Given the description of an element on the screen output the (x, y) to click on. 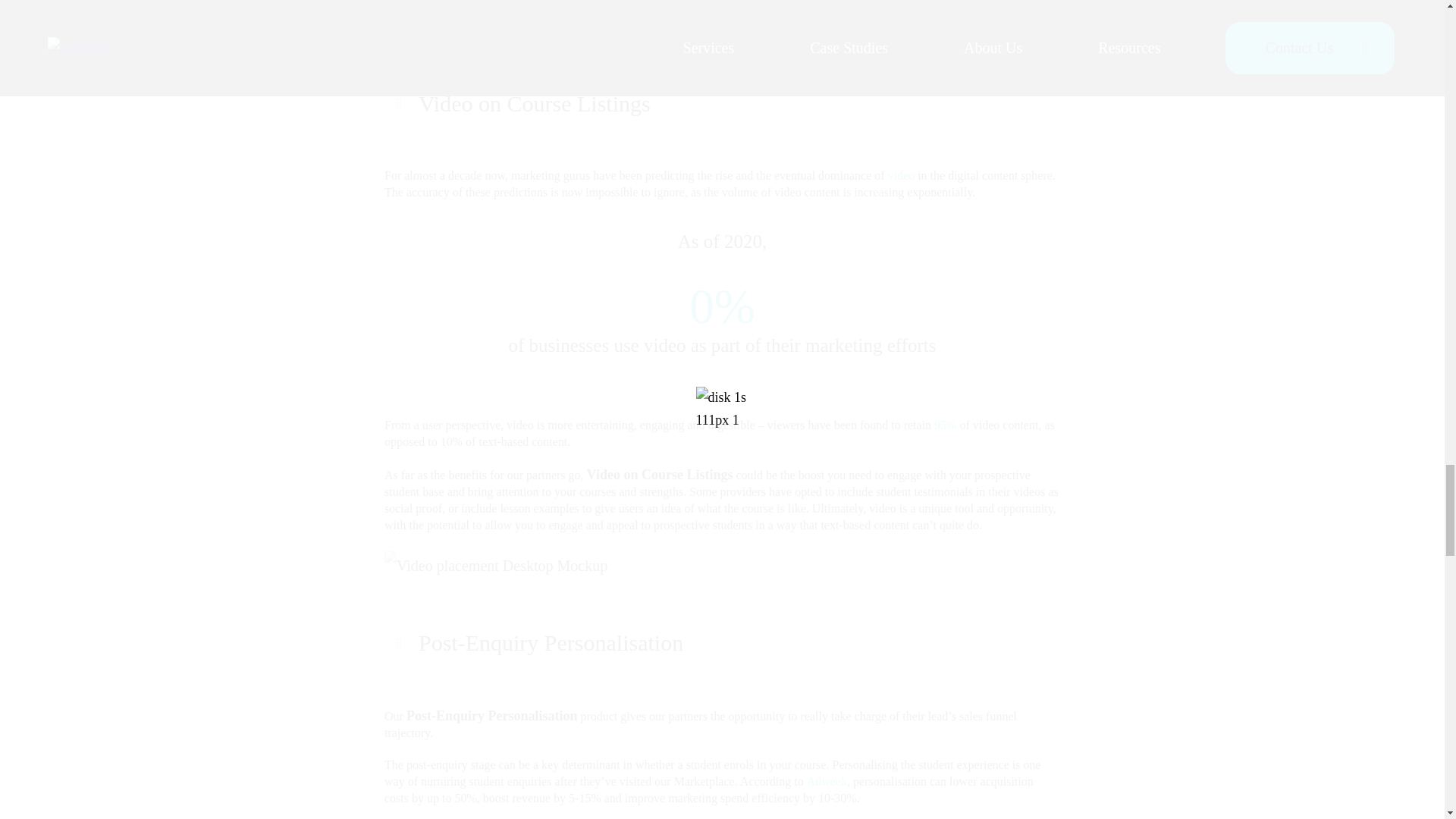
Video placement Desktop Mockup (495, 565)
Adweek (826, 781)
video (901, 175)
UK Phone Leads Mobile (465, 26)
